Given the description of an element on the screen output the (x, y) to click on. 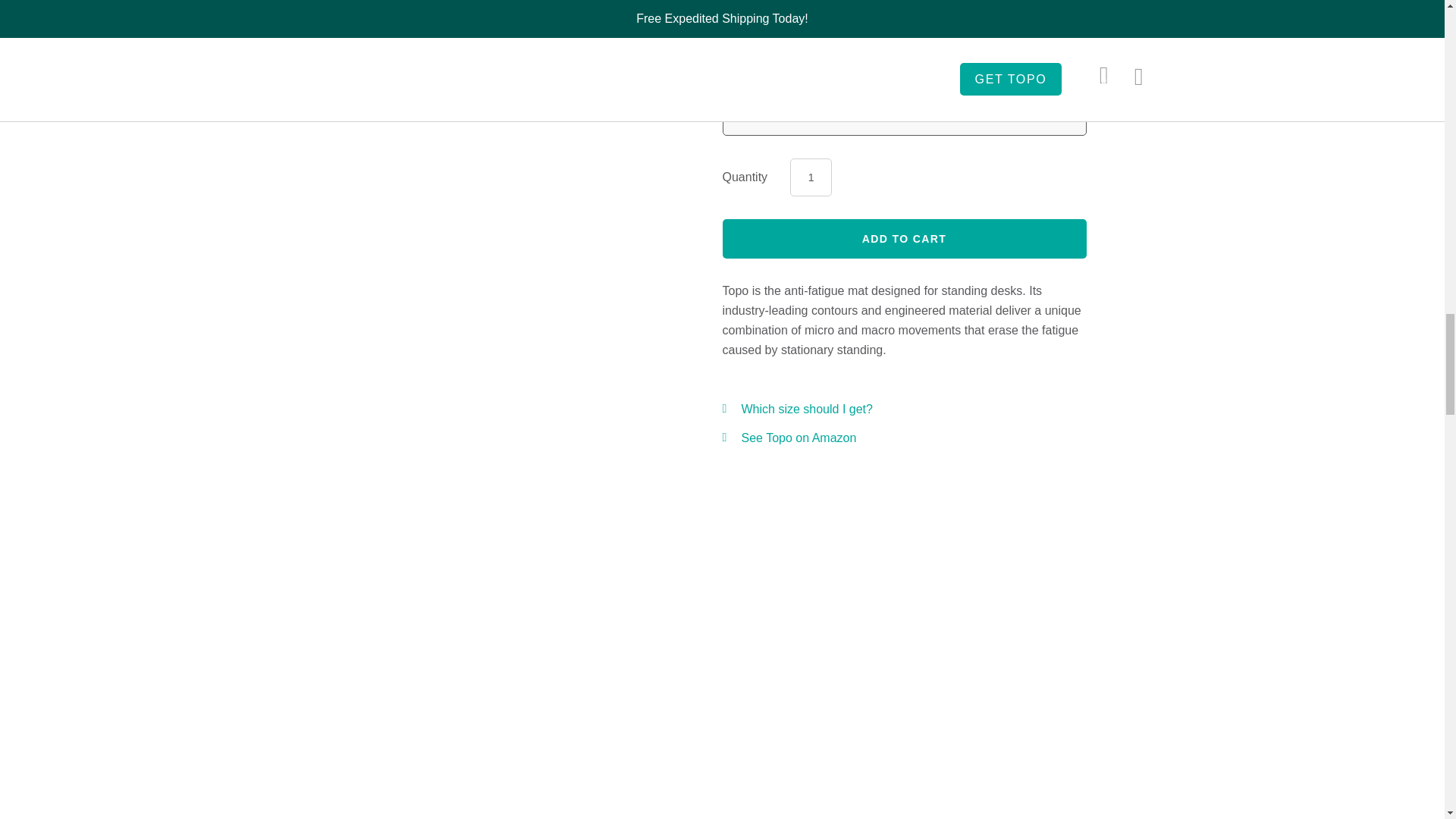
Which size should I get? (806, 408)
Add to cart (904, 238)
1 (810, 177)
Add to cart (904, 238)
See Topo on Amazon (799, 437)
